Given the description of an element on the screen output the (x, y) to click on. 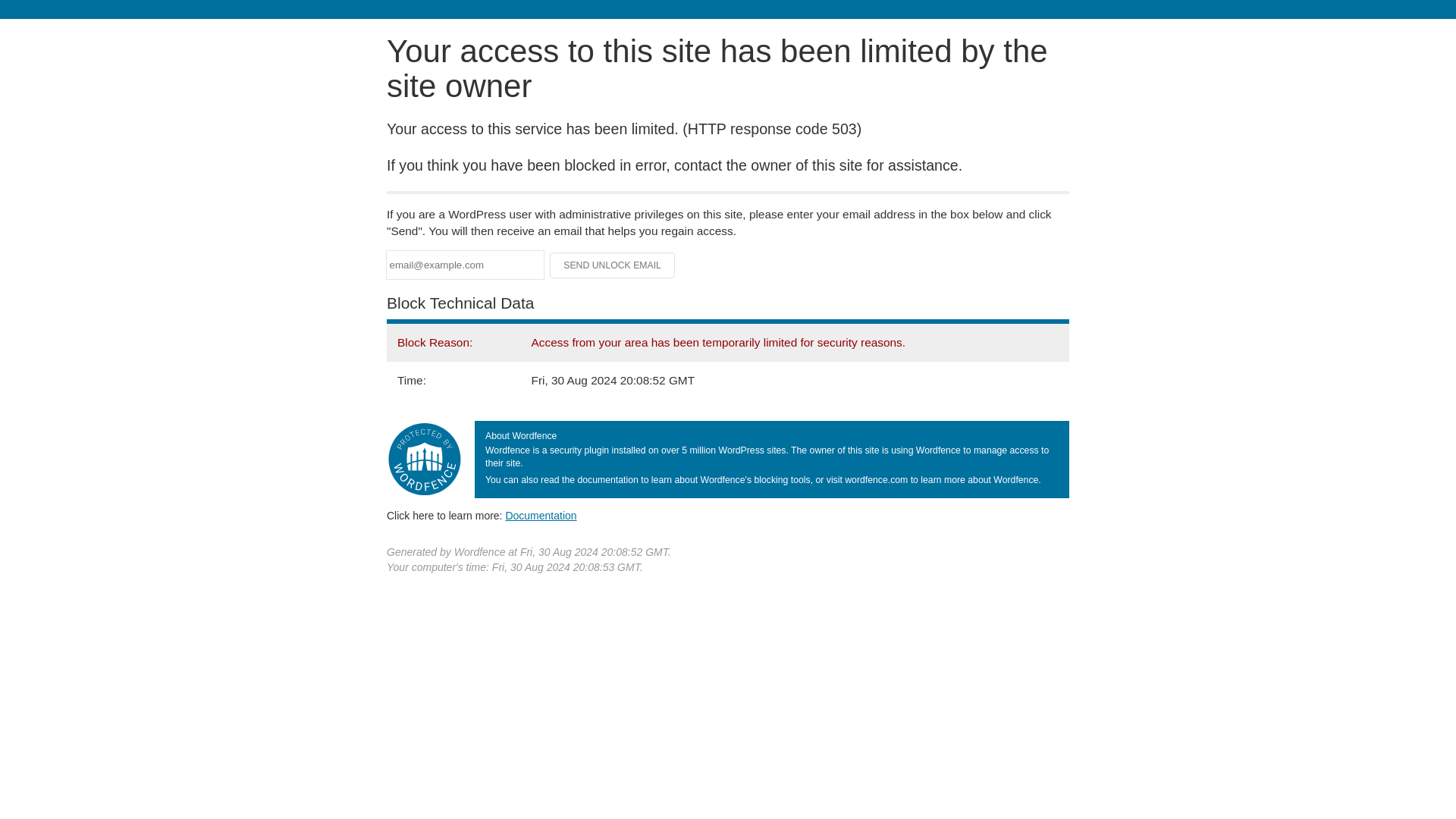
Documentation (540, 515)
Send Unlock Email (612, 265)
Send Unlock Email (612, 265)
